Given the description of an element on the screen output the (x, y) to click on. 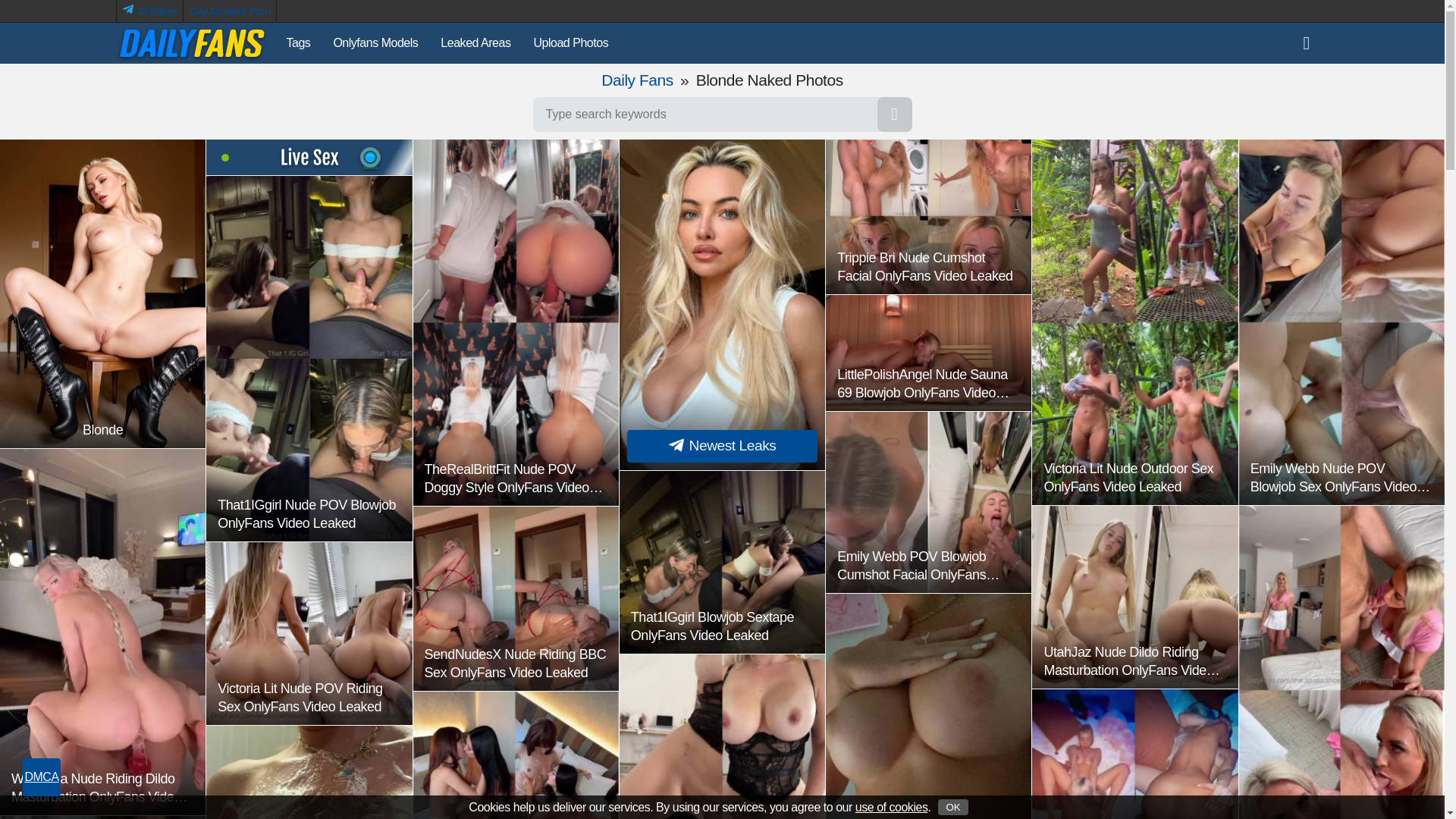
Leaked Areas (475, 42)
TheRealBrittFit Nude POV Doggy Style OnlyFans Video Leaked (515, 322)
Onlyfans Models (375, 42)
Victoria Lit Nude Outdoor Sex OnlyFans Video Leaked (1134, 322)
Daily Fans (636, 79)
Upload Photos (570, 42)
Hot NUDES LEAKED Archives on Daily Fans (190, 43)
Tags (298, 42)
That1IGgirl Nude POV Blowjob OnlyFans Video Leaked (309, 358)
Emily Webb POV Blowjob Cumshot Facial OnlyFans Video Leaked (927, 501)
Onlyfans Models (375, 42)
Newest Leaks (722, 304)
Blonde Naked Photos (636, 79)
Tags (298, 42)
